Given the description of an element on the screen output the (x, y) to click on. 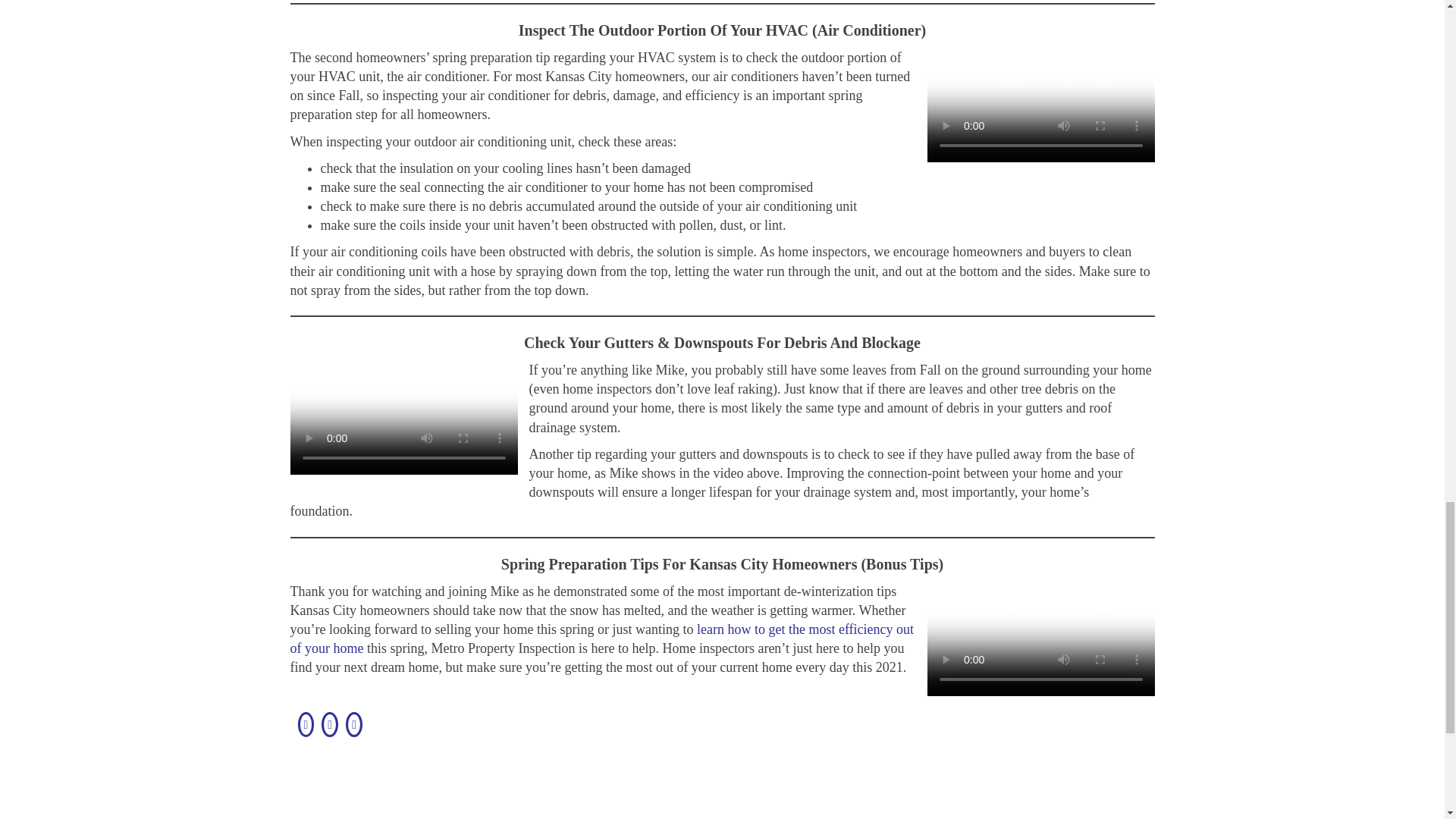
Click to share on LinkedIn (329, 724)
learn how to get the most efficiency out of your home (601, 638)
Click to share on Twitter (354, 724)
Share on Facebook (305, 724)
